Given the description of an element on the screen output the (x, y) to click on. 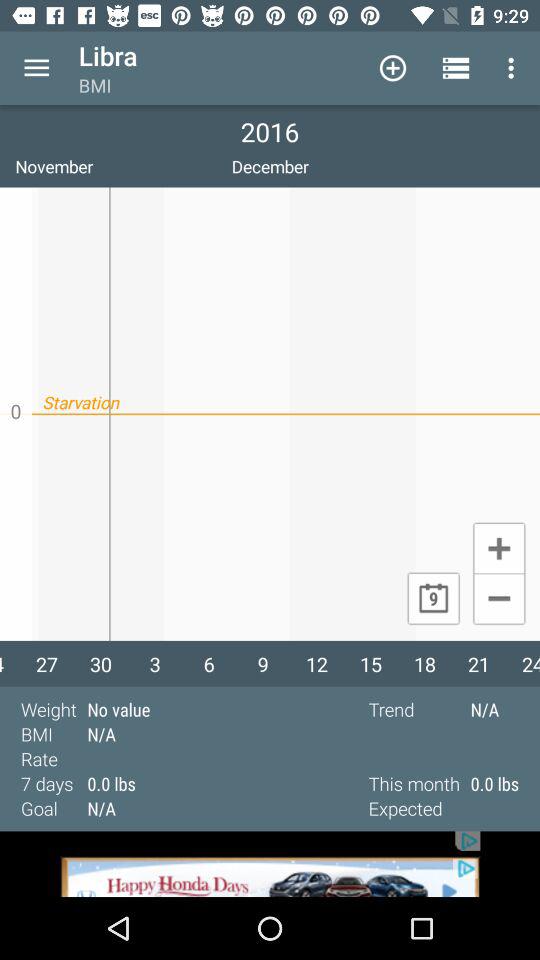
more option (36, 68)
